Given the description of an element on the screen output the (x, y) to click on. 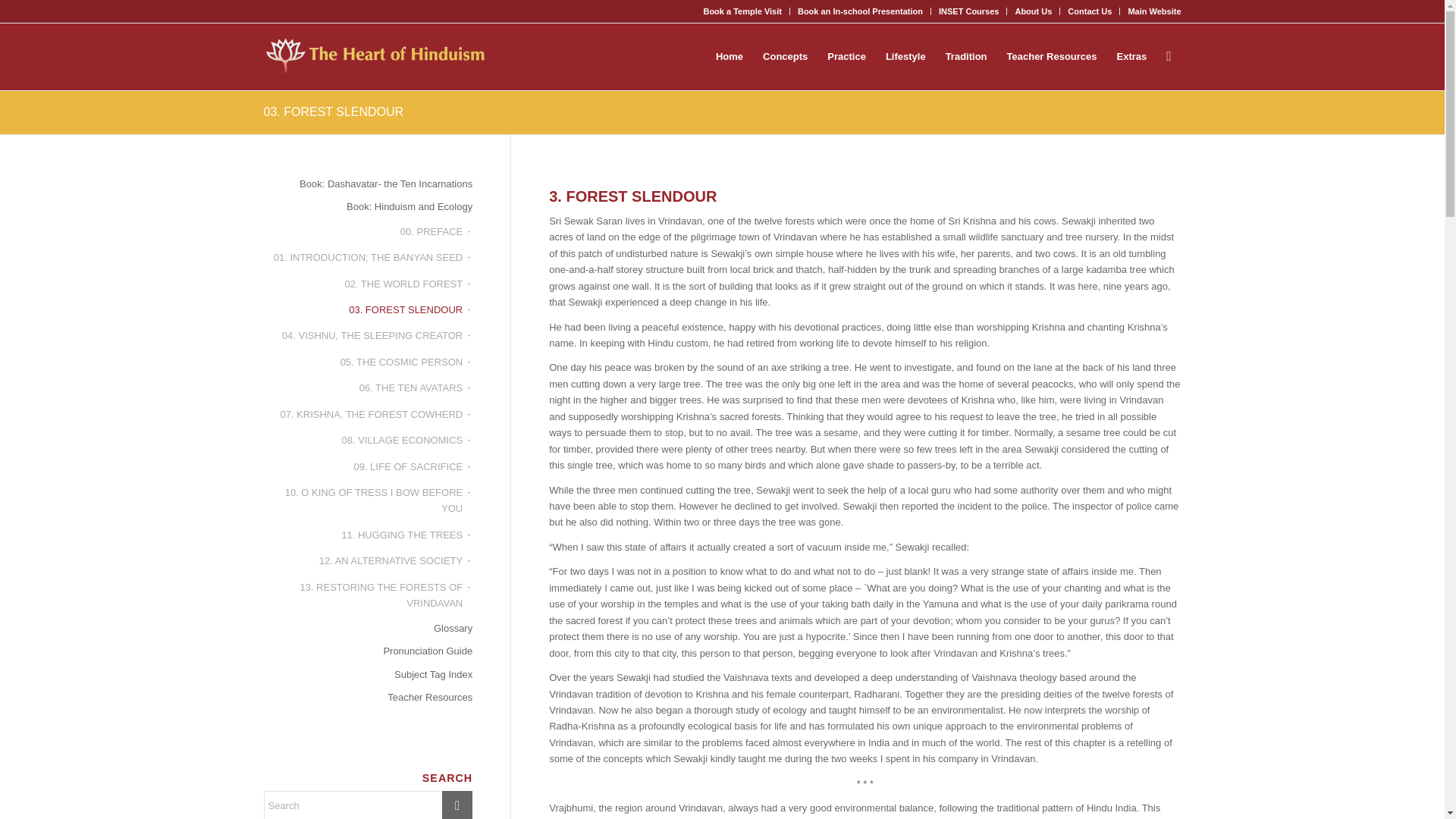
03. FOREST SLENDOUR (333, 111)
Main Website (1153, 11)
Concepts (784, 56)
Permanent Link: 03. FOREST SLENDOUR (333, 111)
Click to start search (456, 805)
Book: Dashavatar- the Ten Incarnations (368, 183)
Lifestyle (906, 56)
Teacher Resources (1051, 56)
INSET Courses (968, 11)
Book a Temple Visit (742, 11)
Book an In-school Presentation (860, 11)
Contact Us (1089, 11)
Tradition (966, 56)
About Us (1032, 11)
